Given the description of an element on the screen output the (x, y) to click on. 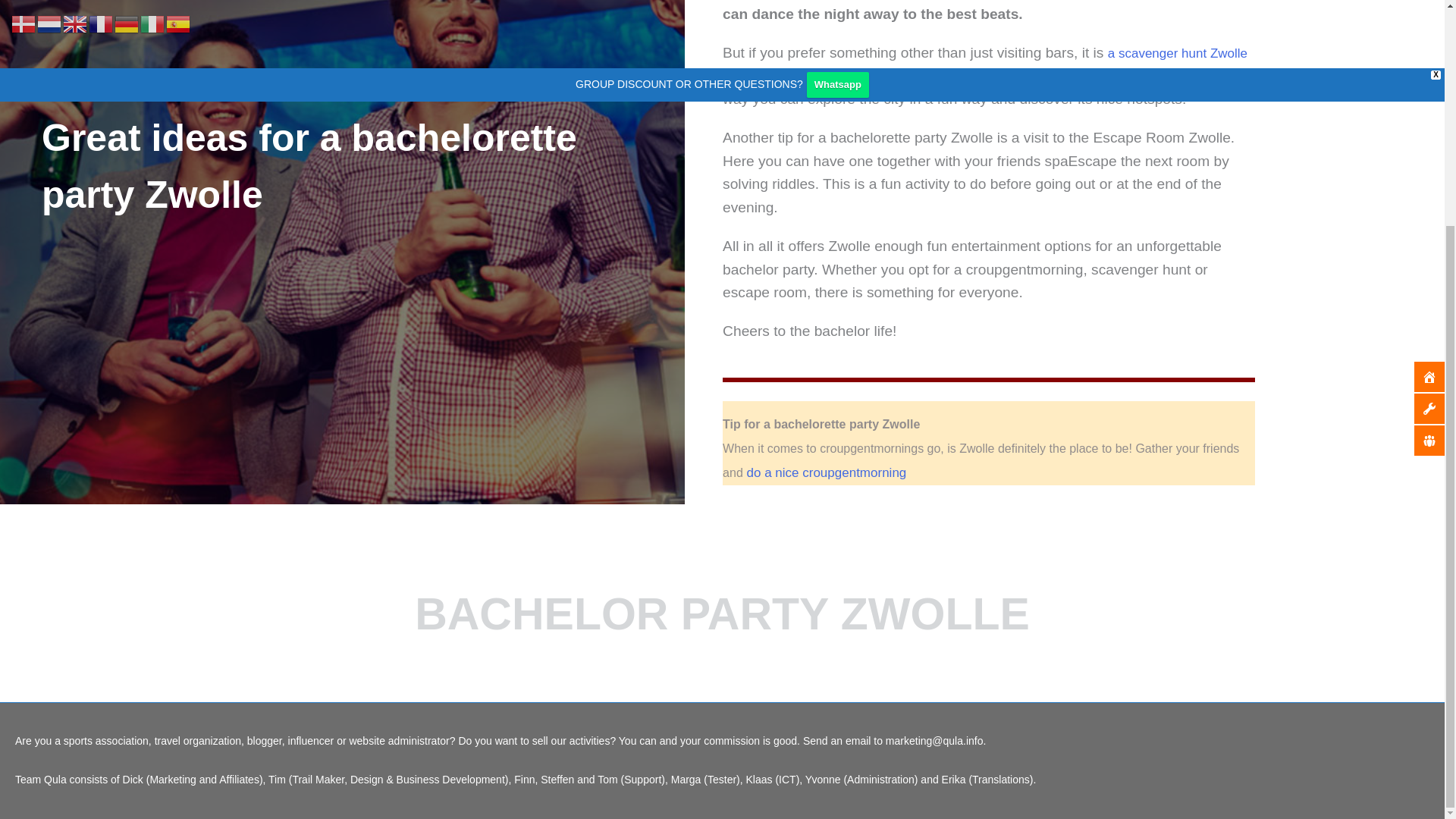
a scavenger hunt Zwolle (1177, 52)
do a nice croupgentmorning (823, 472)
